Given the description of an element on the screen output the (x, y) to click on. 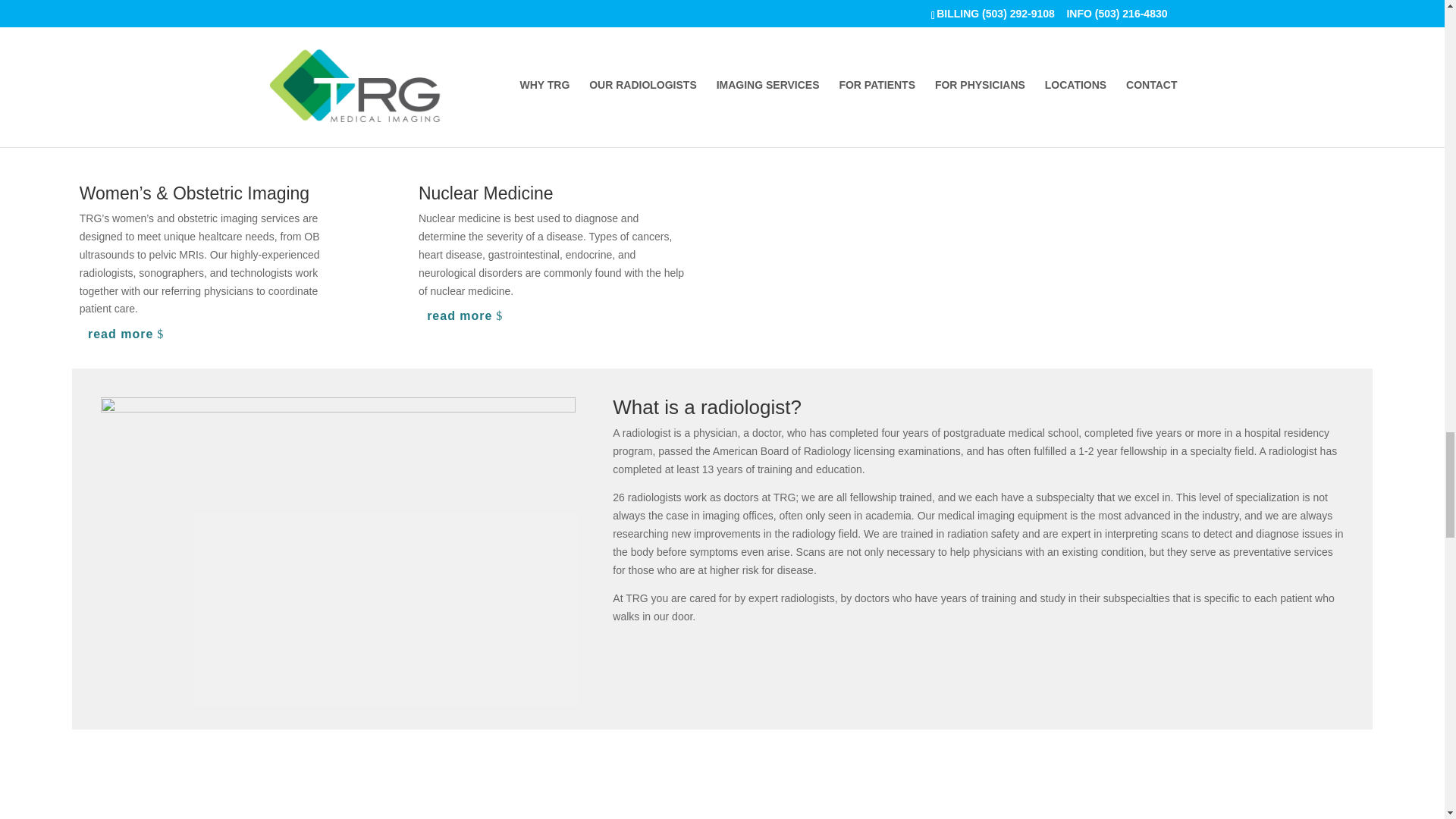
read more (467, 316)
read more (128, 334)
